Given the description of an element on the screen output the (x, y) to click on. 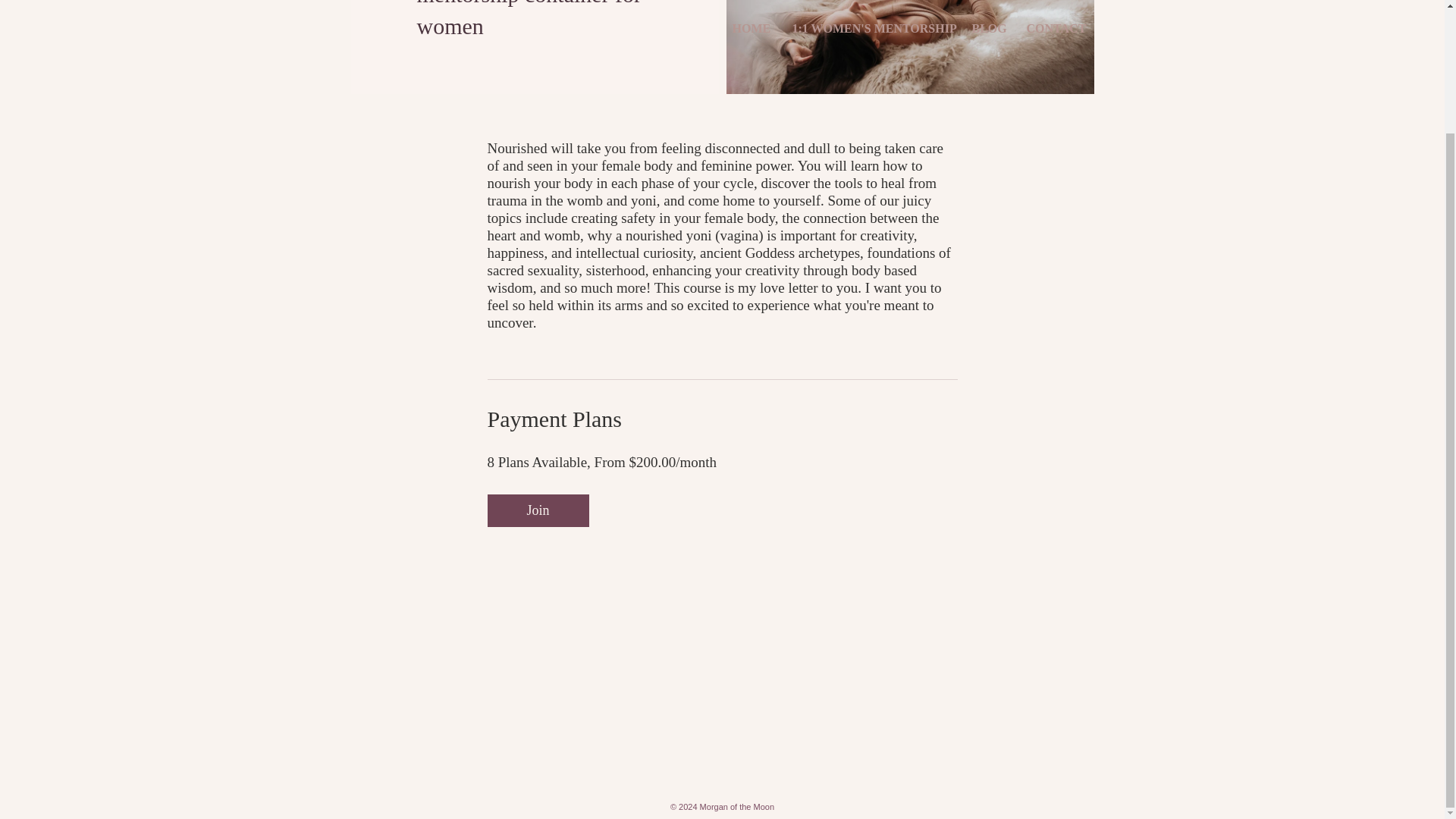
Join (537, 510)
